Given the description of an element on the screen output the (x, y) to click on. 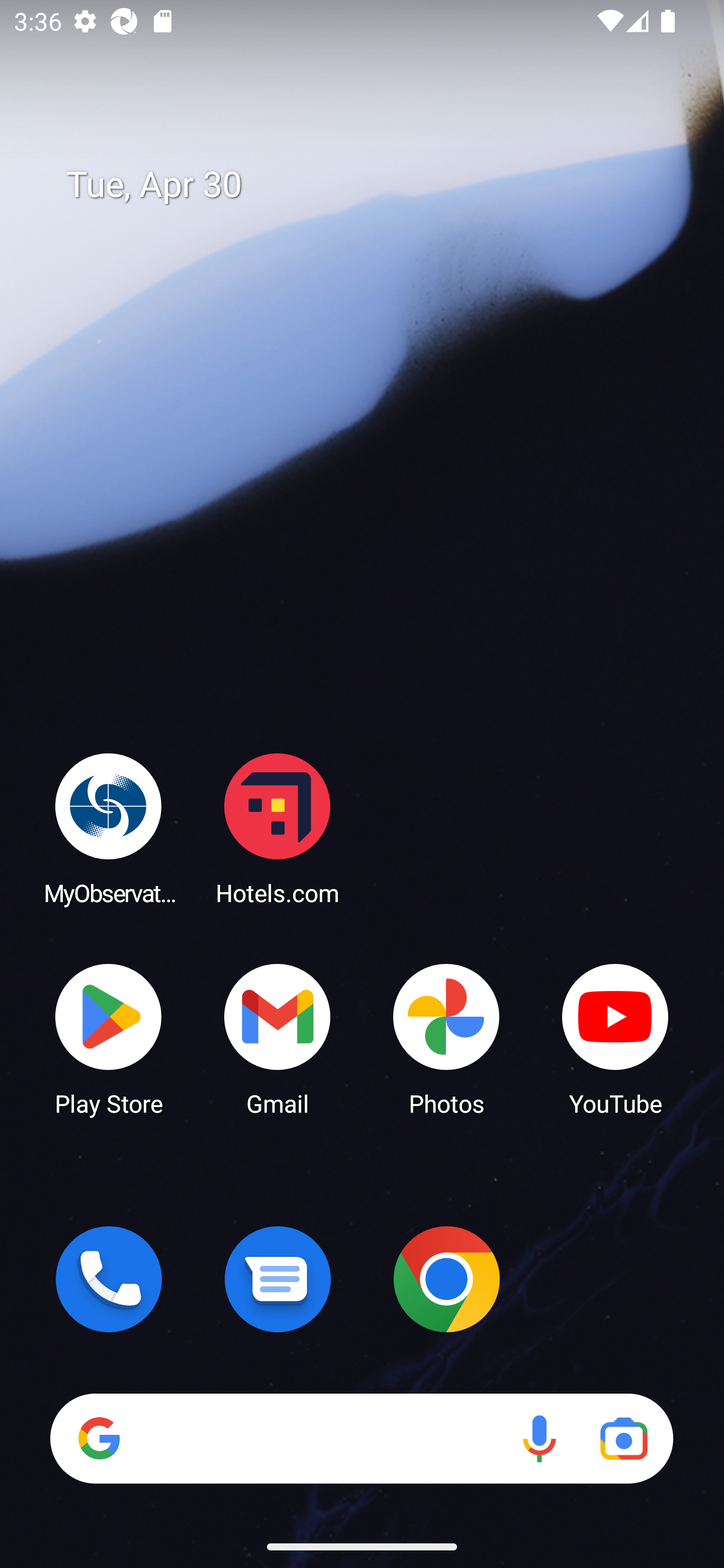
Tue, Apr 30 (375, 184)
MyObservatory (108, 828)
Hotels.com (277, 828)
Play Store (108, 1038)
Gmail (277, 1038)
Photos (445, 1038)
YouTube (615, 1038)
Phone (108, 1279)
Messages (277, 1279)
Chrome (446, 1279)
Voice search (539, 1438)
Google Lens (623, 1438)
